Given the description of an element on the screen output the (x, y) to click on. 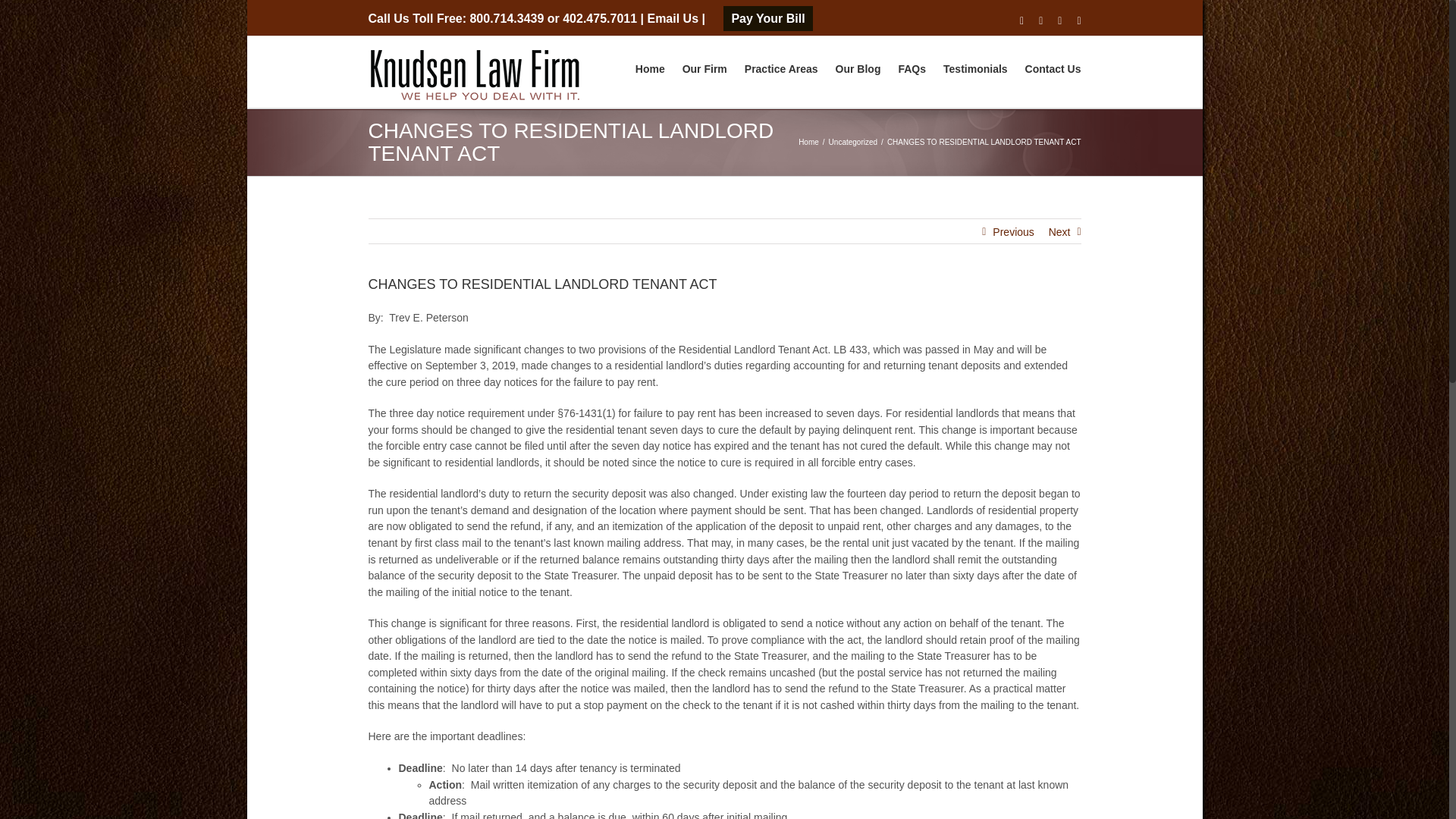
Pay Your Bill (767, 18)
Email Us (672, 18)
